Given the description of an element on the screen output the (x, y) to click on. 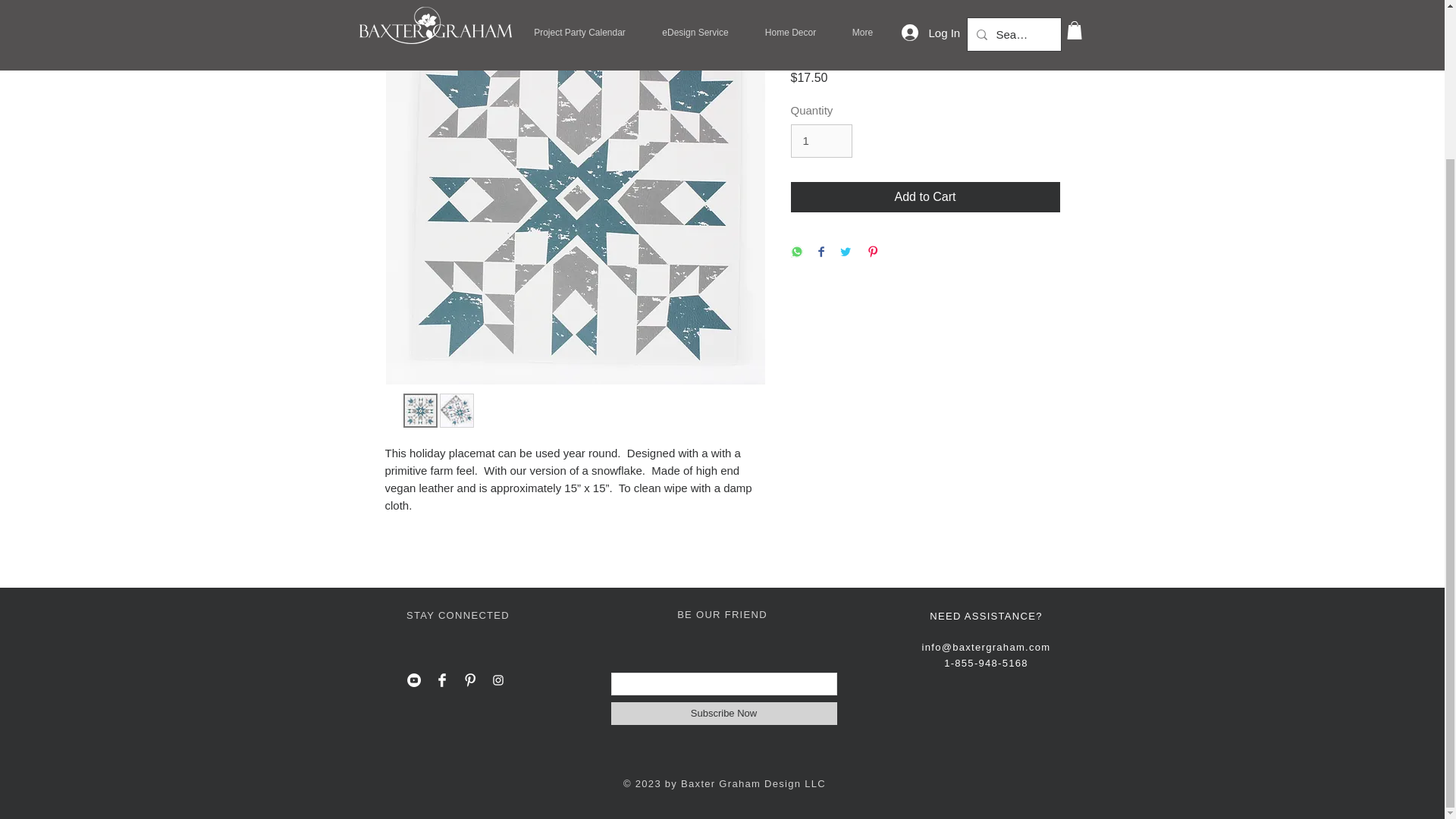
Subscribe Now (724, 712)
Add to Cart (924, 196)
1 (820, 141)
